Given the description of an element on the screen output the (x, y) to click on. 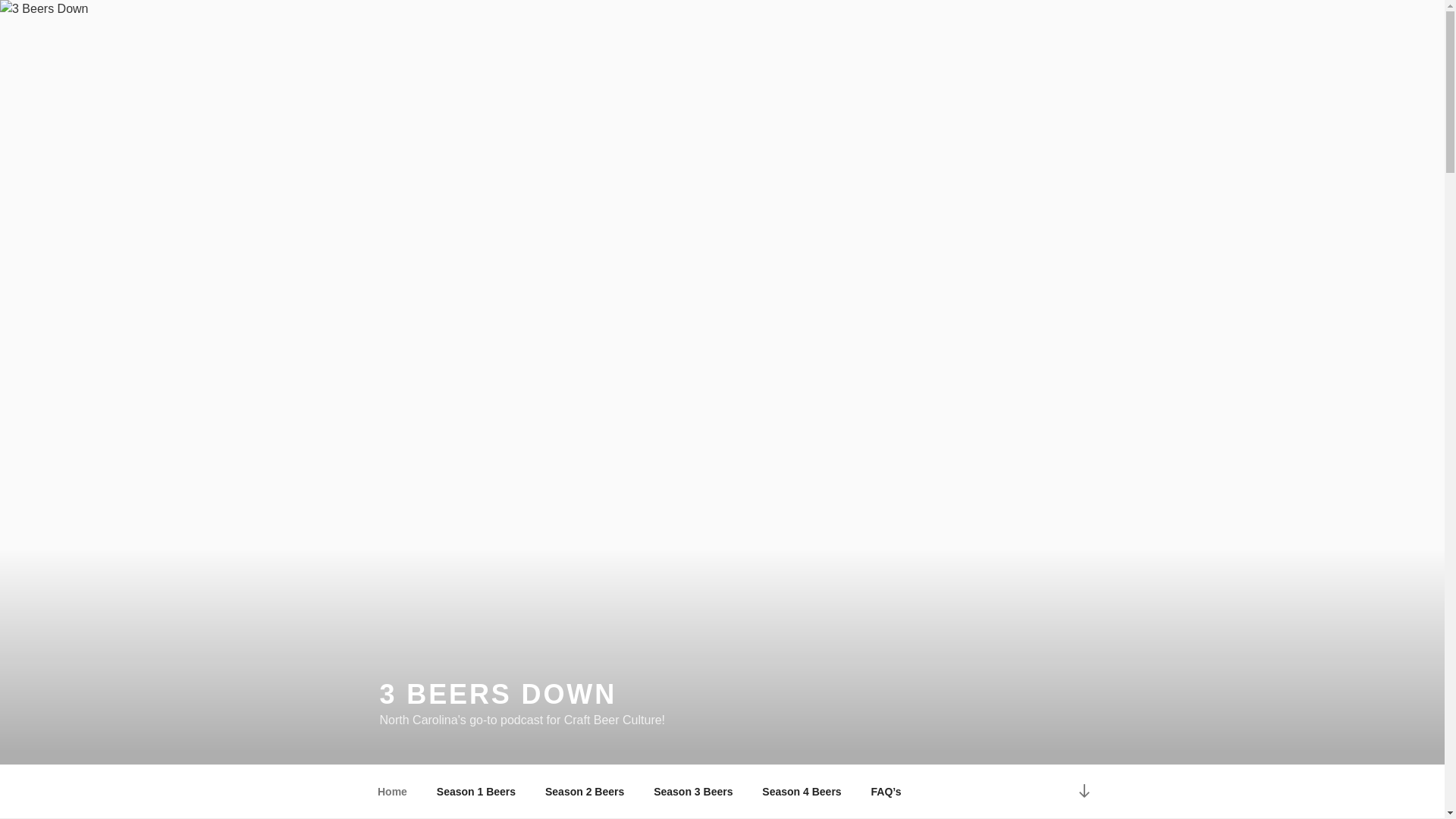
Scroll down to content Element type: text (1083, 790)
Season 1 Beers Element type: text (475, 791)
Season 2 Beers Element type: text (584, 791)
Season 4 Beers Element type: text (801, 791)
Season 3 Beers Element type: text (693, 791)
Skip to content Element type: text (0, 0)
3 BEERS DOWN Element type: text (497, 693)
Home Element type: text (392, 791)
